Given the description of an element on the screen output the (x, y) to click on. 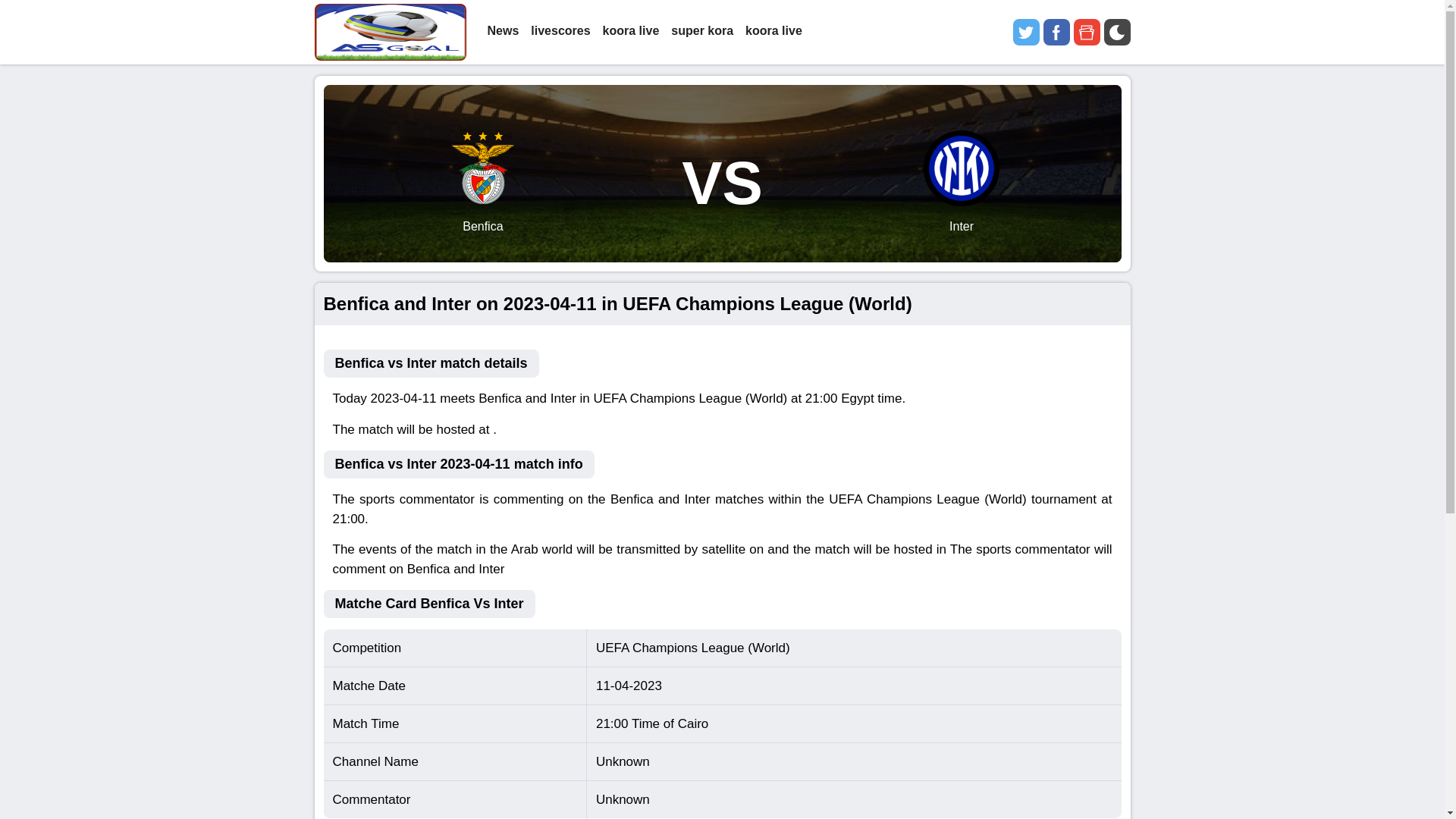
koora live (630, 31)
as goal English free Live Streaming kooralive (389, 32)
livescores (559, 31)
koora live (773, 31)
super kora (702, 31)
